Given the description of an element on the screen output the (x, y) to click on. 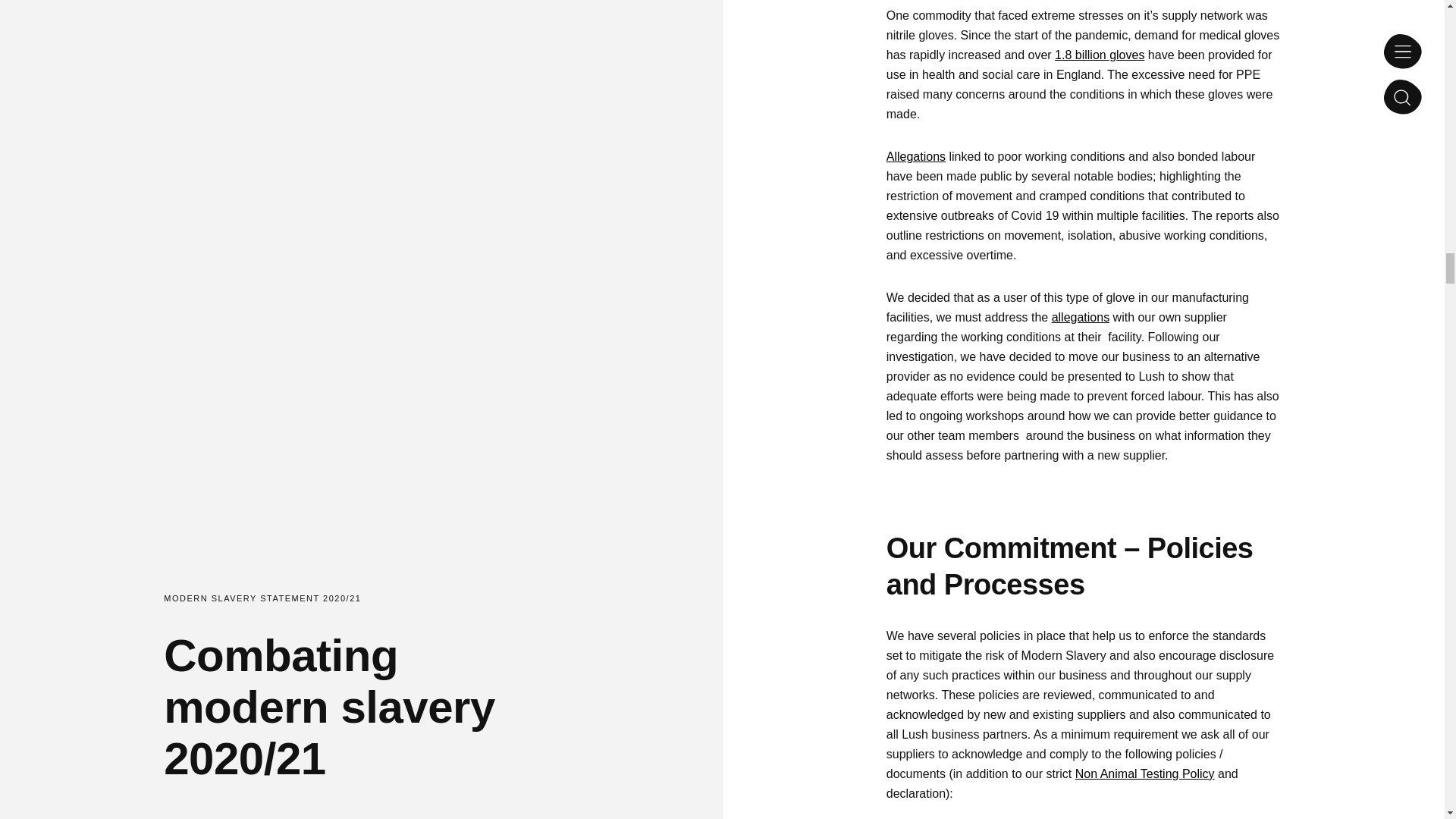
Non Animal Testing Policy (1144, 773)
Allegations (915, 155)
1.8 billion gloves (1099, 54)
allegations (1080, 317)
